Given the description of an element on the screen output the (x, y) to click on. 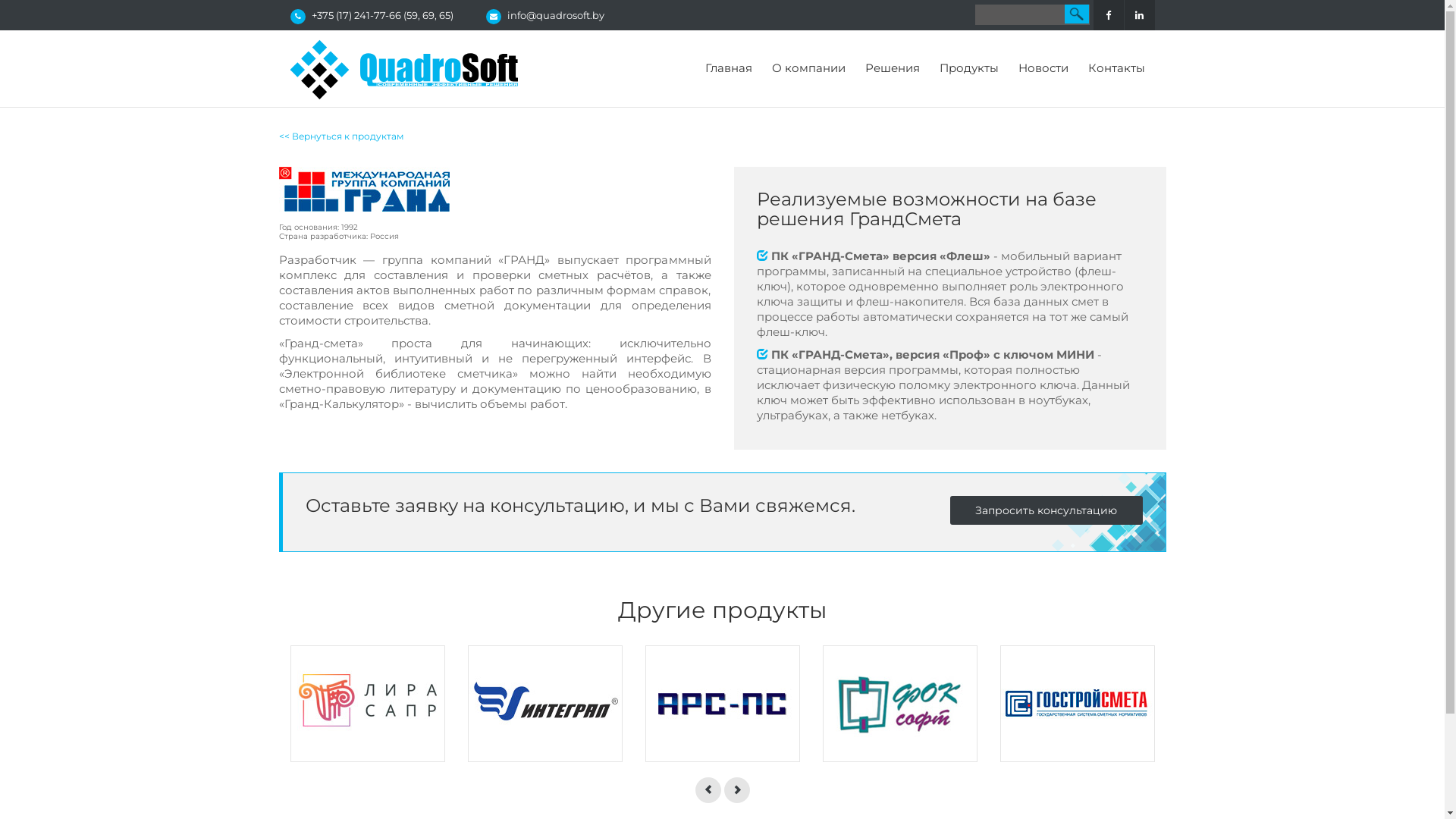
info@quadrosoft.by Element type: text (554, 15)
